Given the description of an element on the screen output the (x, y) to click on. 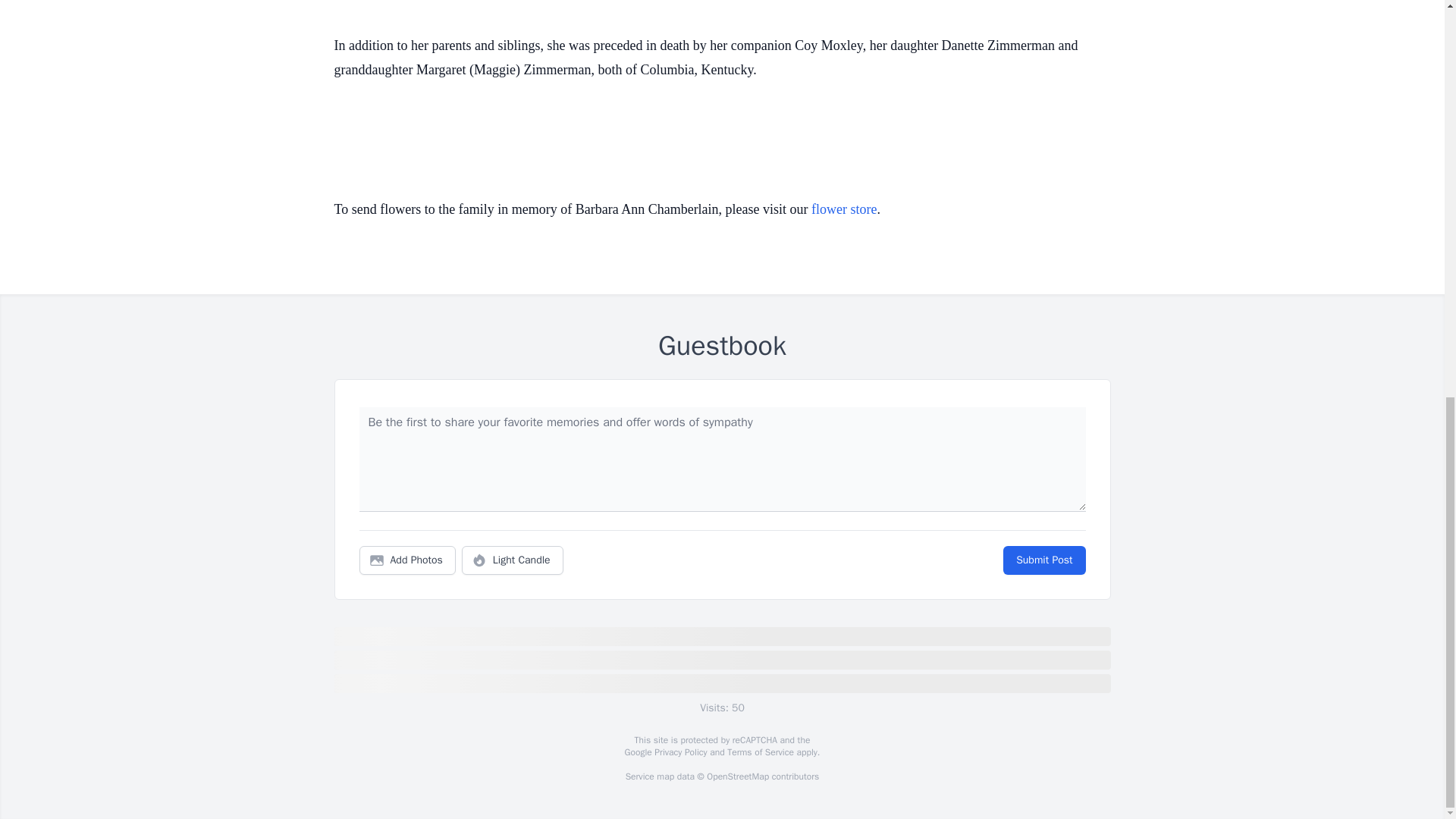
Privacy Policy (679, 752)
OpenStreetMap (737, 776)
Submit Post (1043, 560)
flower store (843, 209)
Terms of Service (759, 752)
Add Photos (407, 560)
Light Candle (512, 560)
